Given the description of an element on the screen output the (x, y) to click on. 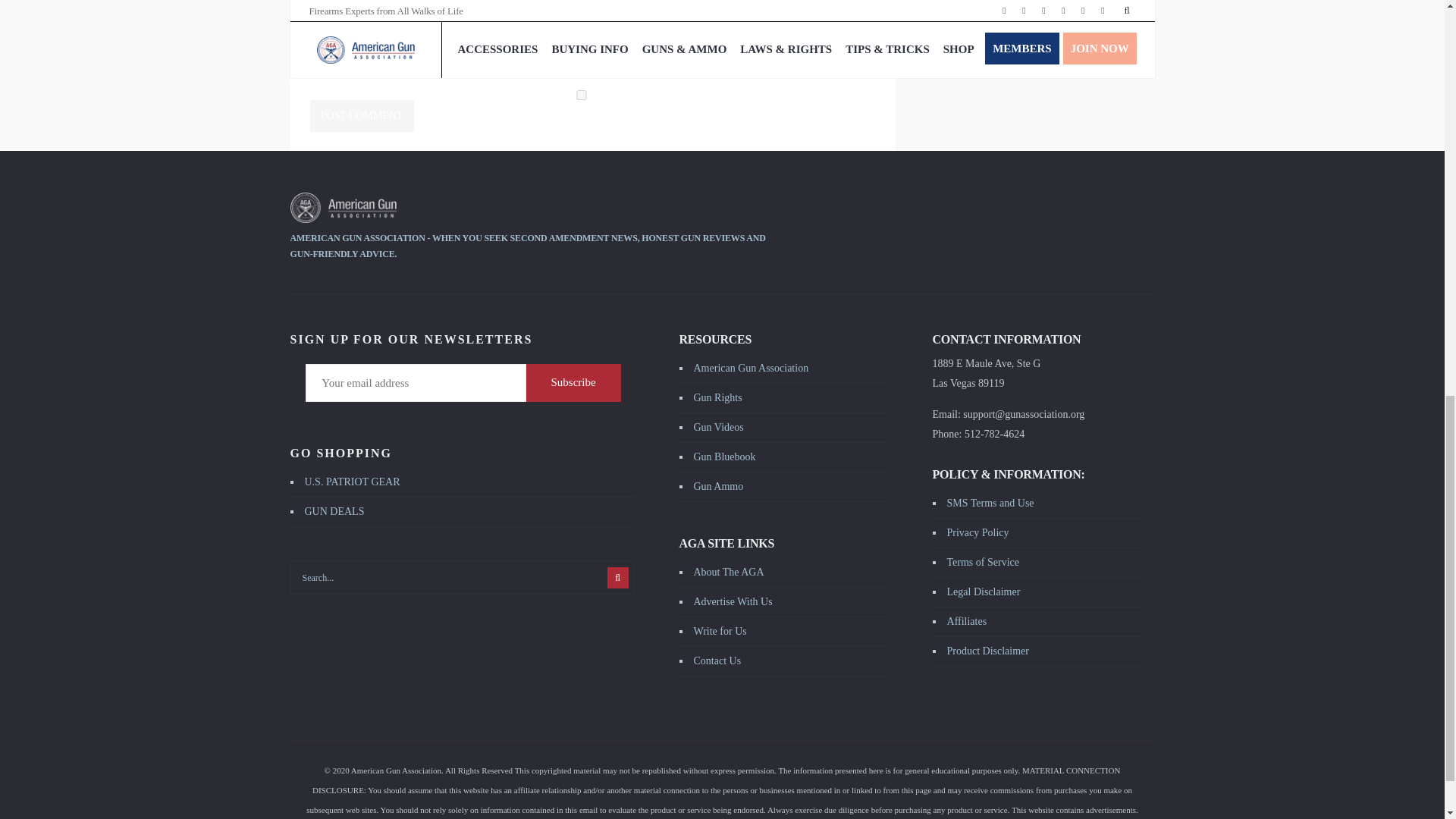
Post Comment (360, 115)
Search... (461, 577)
GUN DEALS (334, 511)
Subscribe (573, 382)
yes (580, 94)
Subscribe (573, 382)
U.S. PATRIOT GEAR (352, 481)
Post Comment (360, 115)
